Given the description of an element on the screen output the (x, y) to click on. 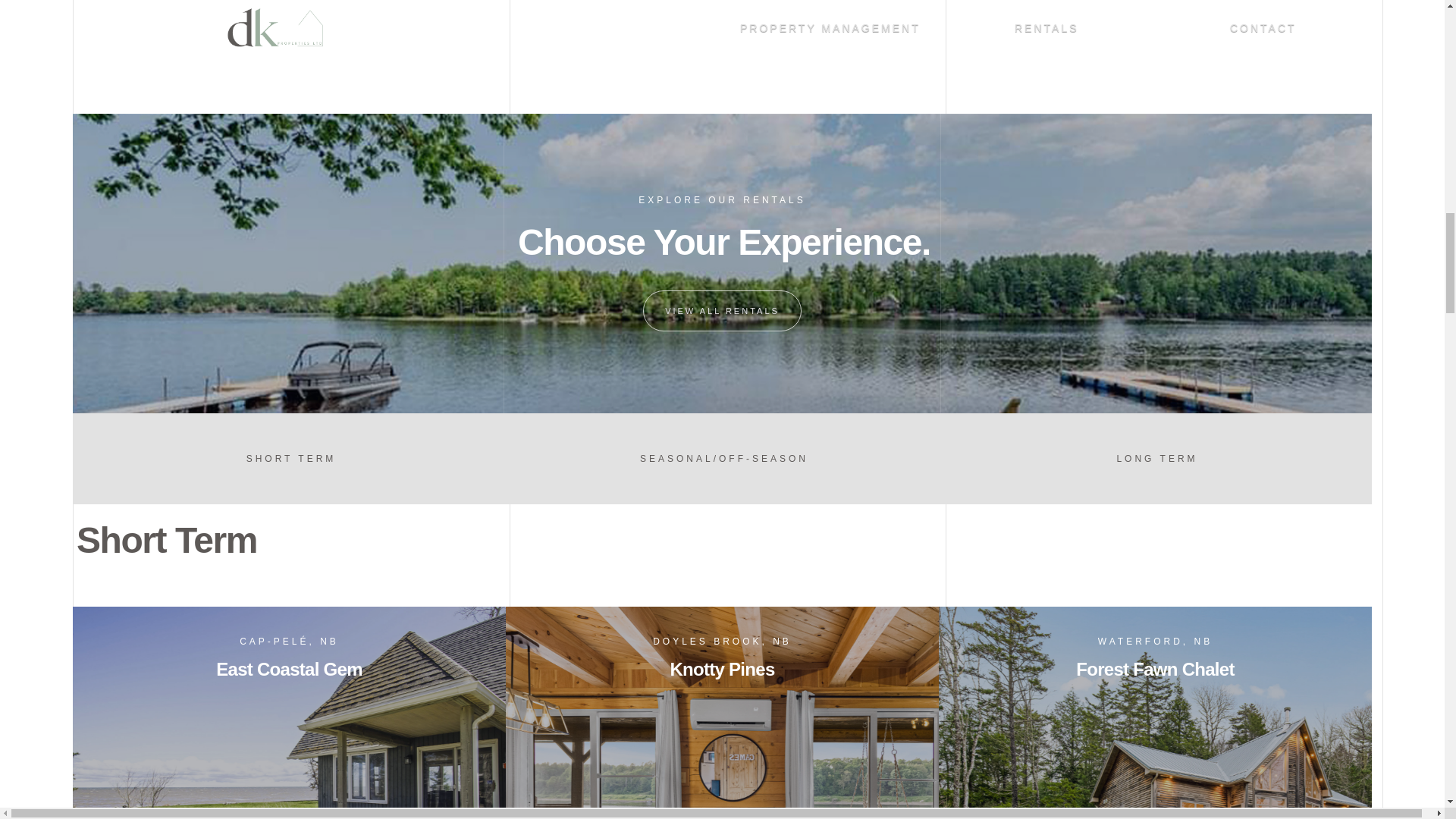
VIEW ALL RENTALS (722, 310)
SHORT TERM (289, 458)
LONG TERM (1154, 458)
